Given the description of an element on the screen output the (x, y) to click on. 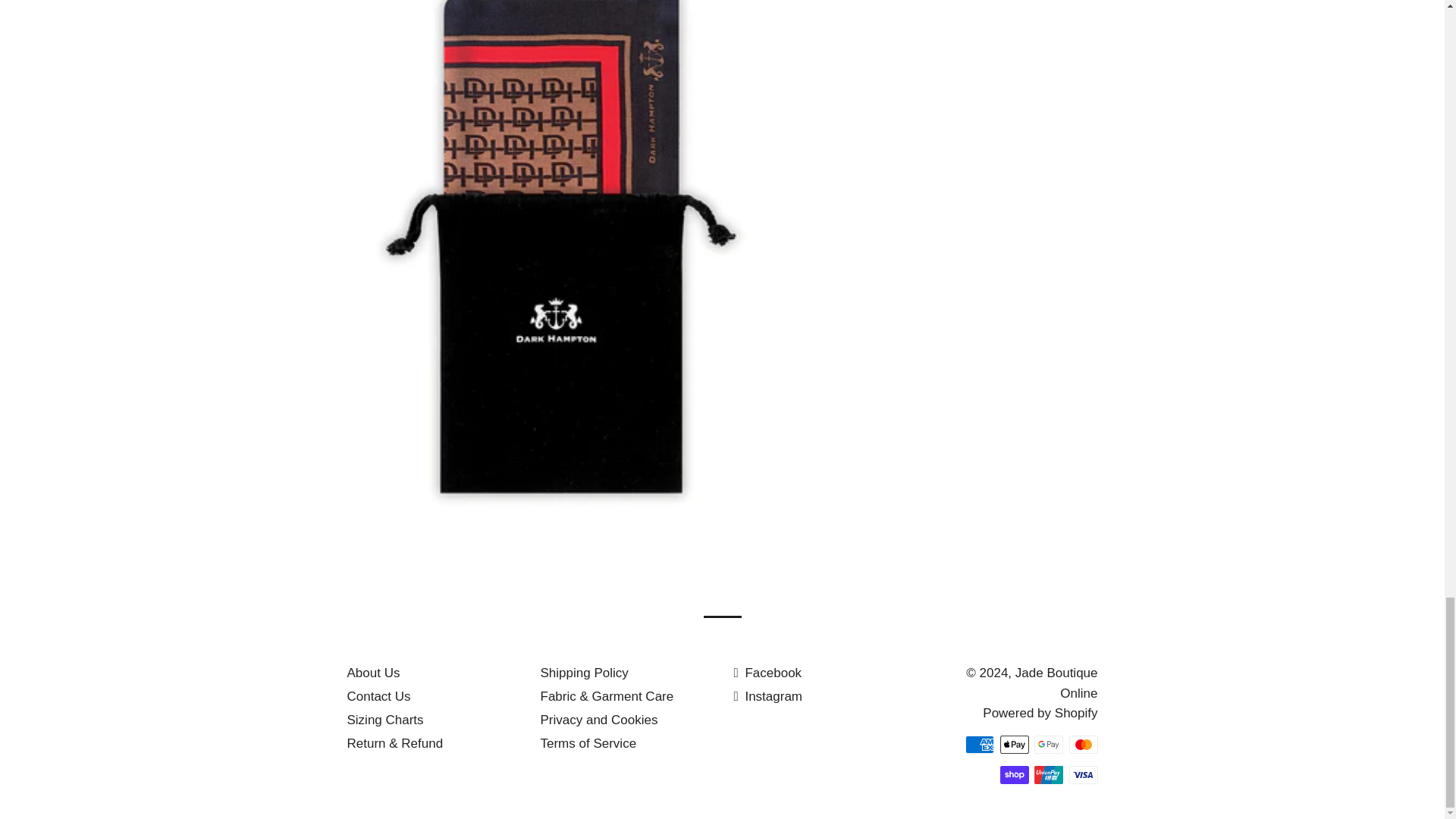
Shop Pay (1012, 774)
Jade Boutique Online on Instagram (768, 696)
Mastercard (1082, 744)
Jade Boutique Online on Facebook (767, 672)
Visa (1082, 774)
Google Pay (1047, 744)
Apple Pay (1012, 744)
Union Pay (1047, 774)
American Express (979, 744)
